Given the description of an element on the screen output the (x, y) to click on. 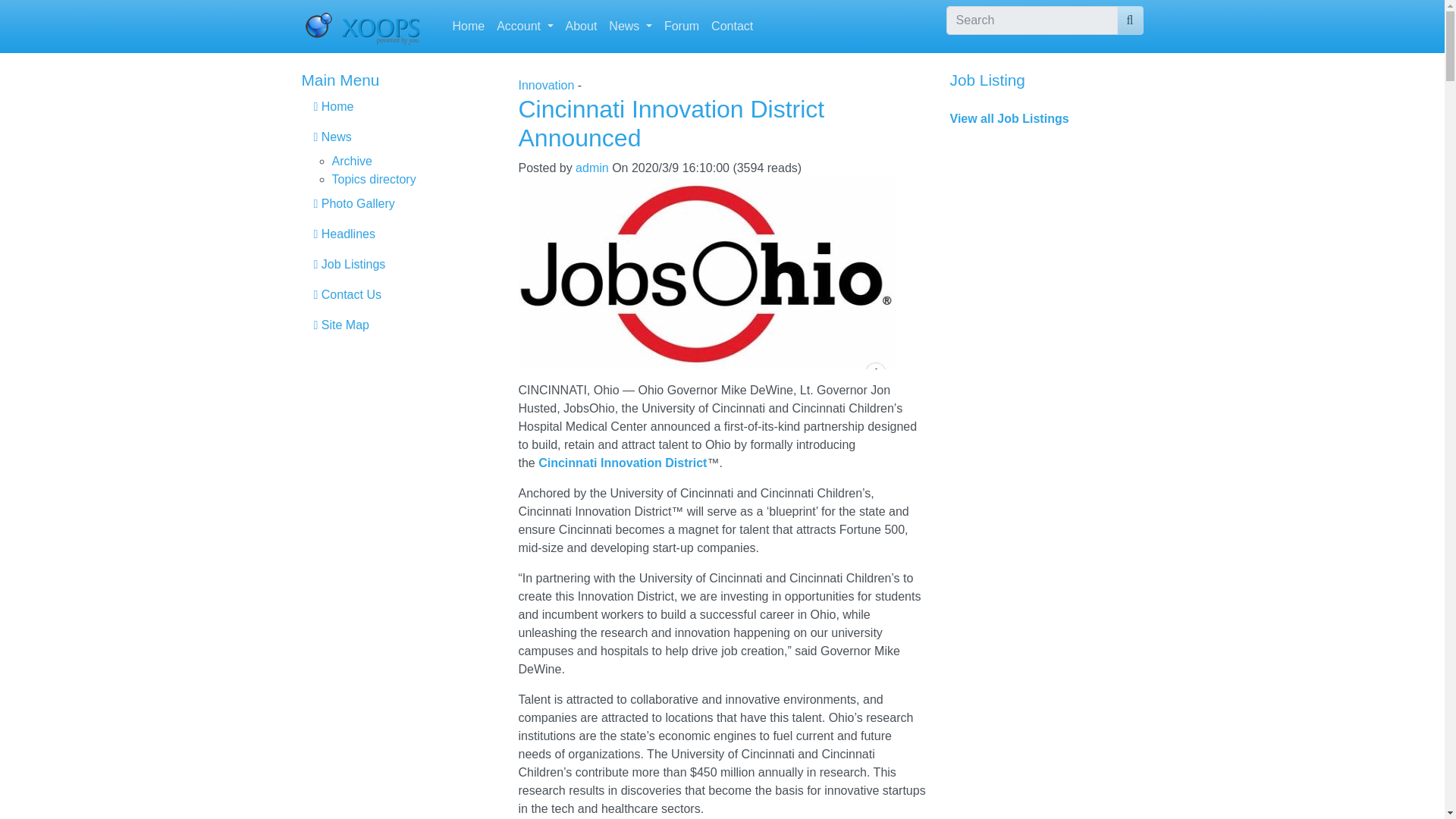
Topics directory (373, 178)
Contact Us (398, 295)
Cincinnati Innovation District Announced (671, 123)
News (630, 26)
Cincinnati Innovation District Announced (671, 123)
Home (467, 26)
Job Listings (398, 264)
Innovation (546, 84)
Site Map (398, 325)
About (581, 26)
